Given the description of an element on the screen output the (x, y) to click on. 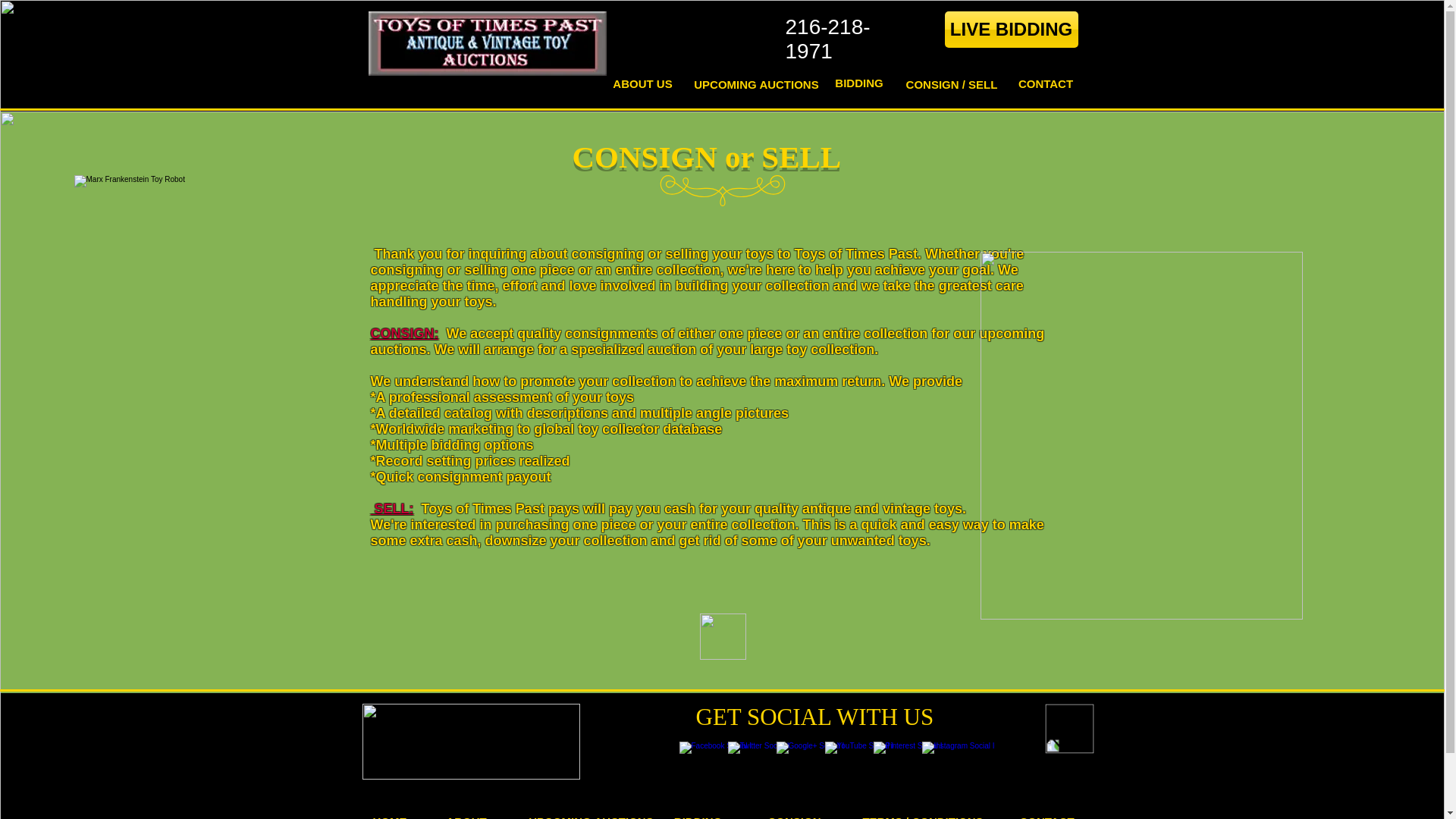
ABOUT (466, 814)
CONTACT (1046, 814)
BIDDING (698, 814)
CONTACT (1045, 82)
LIVE BIDDING (1011, 29)
UPCOMING AUCTIONS (757, 83)
CONSIGN (794, 814)
ABOUT US (643, 82)
UPCOMING AUCTIONS (591, 814)
BIDDING (859, 82)
HOME (389, 814)
